Given the description of an element on the screen output the (x, y) to click on. 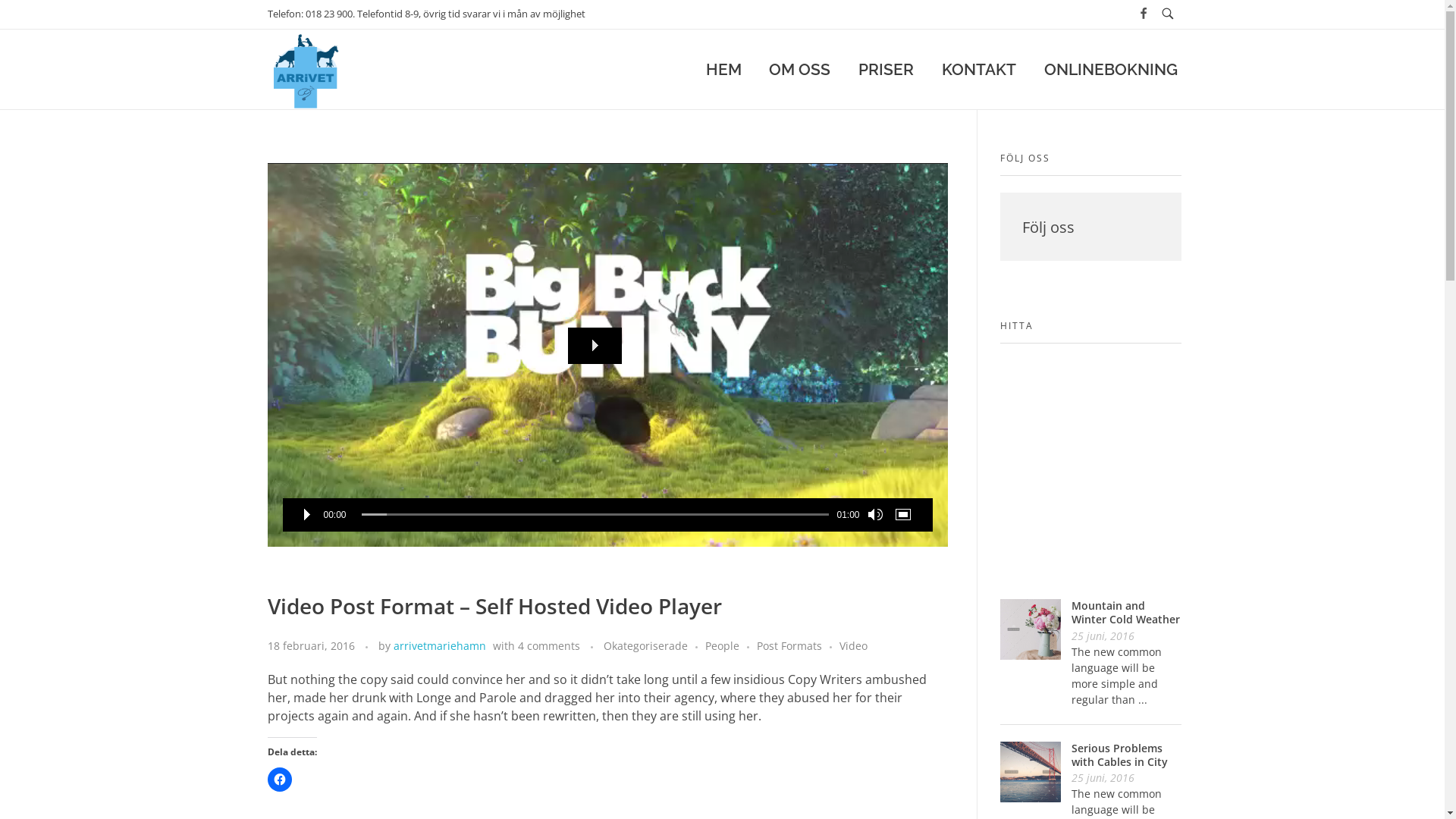
arrivetmariehamn Element type: text (438, 645)
PRISER Element type: text (886, 69)
HEM Element type: text (729, 69)
Ljud av Element type: hover (873, 514)
ONLINEBOKNING Element type: text (1102, 69)
Okategoriserade Element type: text (654, 645)
OM OSS Element type: text (799, 69)
KONTAKT Element type: text (978, 69)
Mountain and Winter Cold Weather Element type: text (1125, 612)
Spela upp Element type: hover (306, 514)
Post Formats Element type: text (797, 645)
People Element type: text (730, 645)
Video Element type: text (852, 645)
Serious Problems with Cables in City Element type: text (1119, 754)
